Given the description of an element on the screen output the (x, y) to click on. 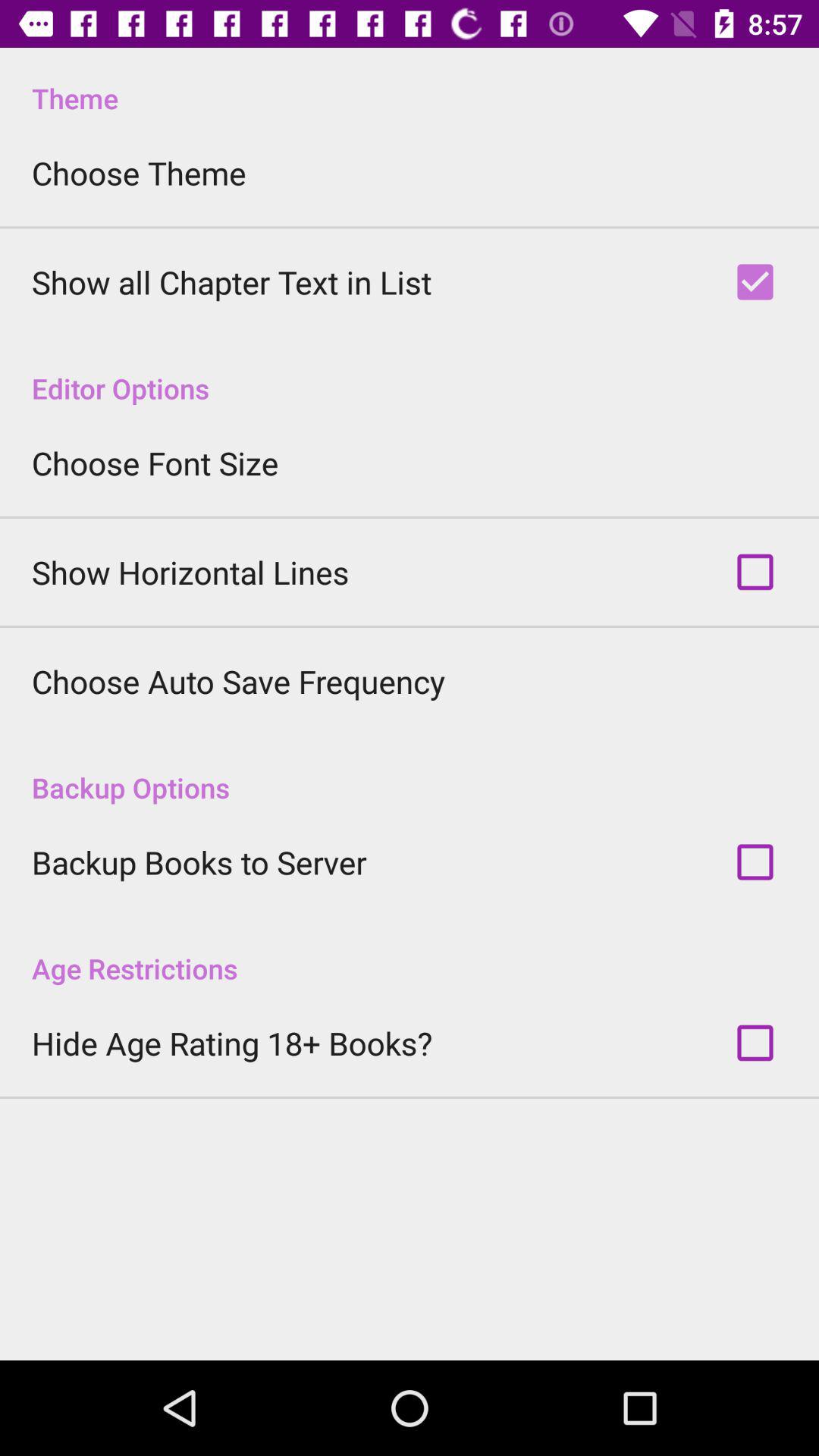
turn on the item below editor options (154, 462)
